Given the description of an element on the screen output the (x, y) to click on. 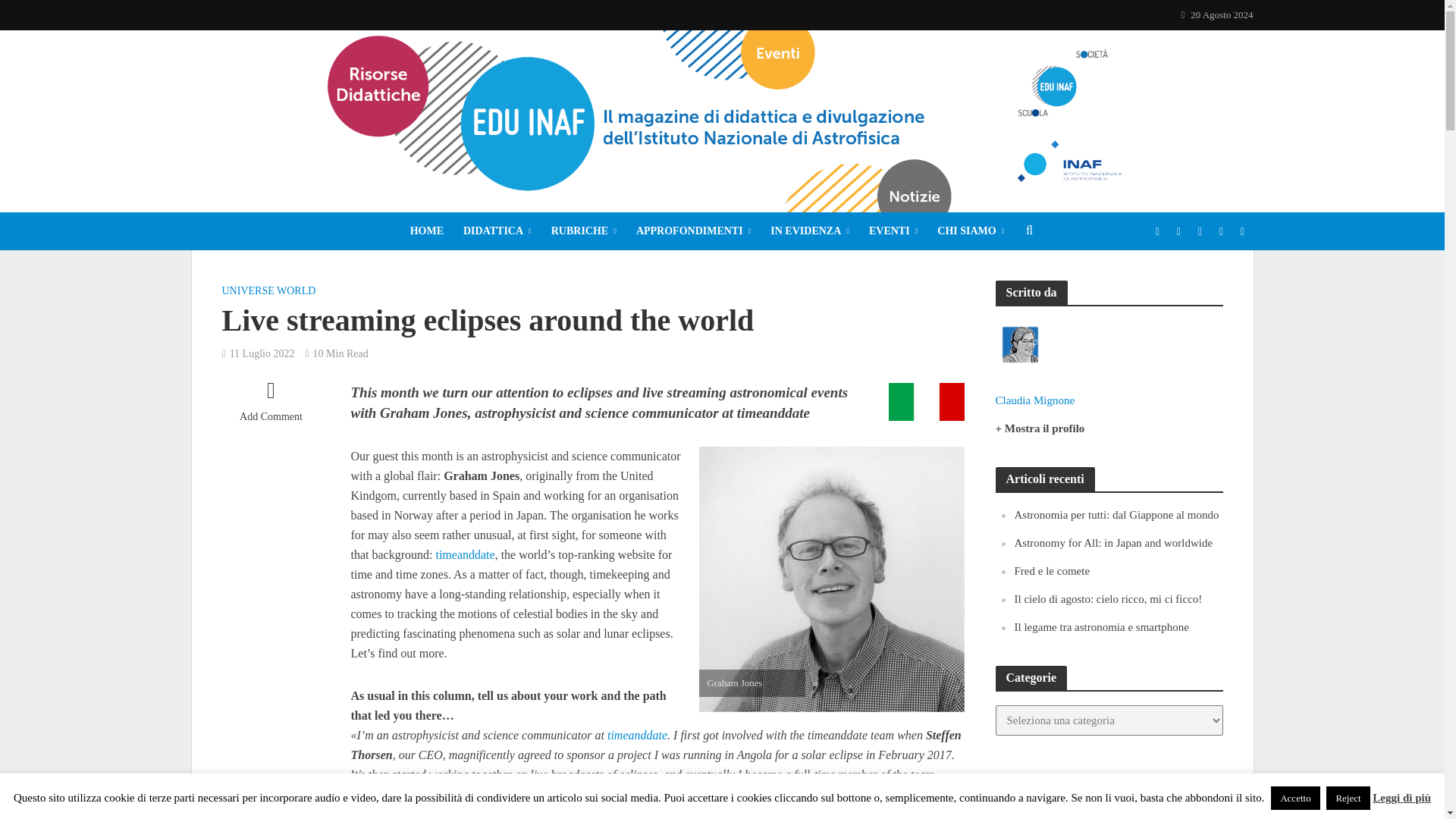
APPROFONDIMENTI (693, 231)
HOME (426, 231)
RUBRICHE (583, 231)
IN EVIDENZA (809, 231)
DIDATTICA (496, 231)
